Given the description of an element on the screen output the (x, y) to click on. 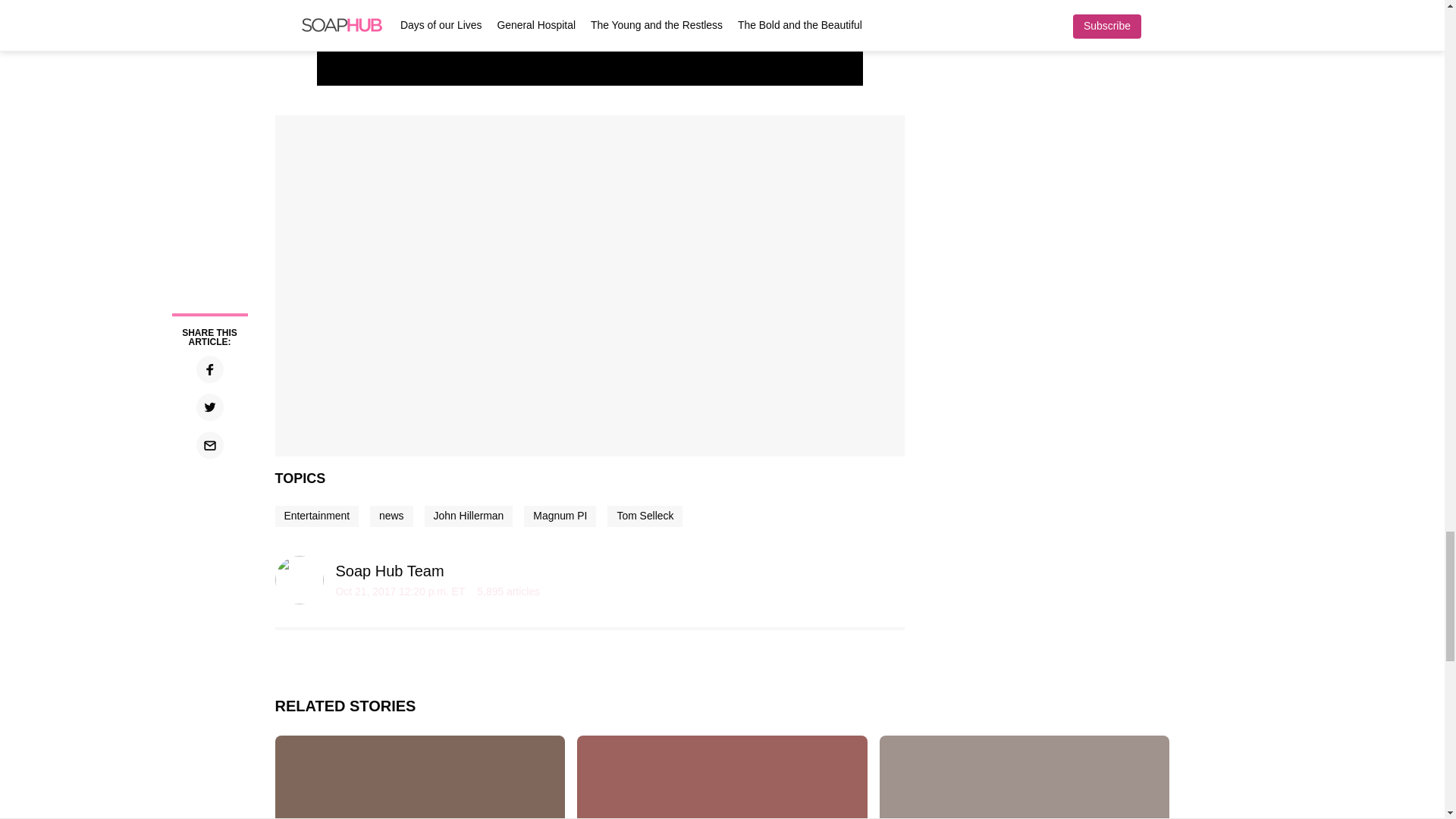
John Hillerman (469, 516)
news (390, 516)
Magnum PI (559, 516)
Entertainment (316, 516)
